Given the description of an element on the screen output the (x, y) to click on. 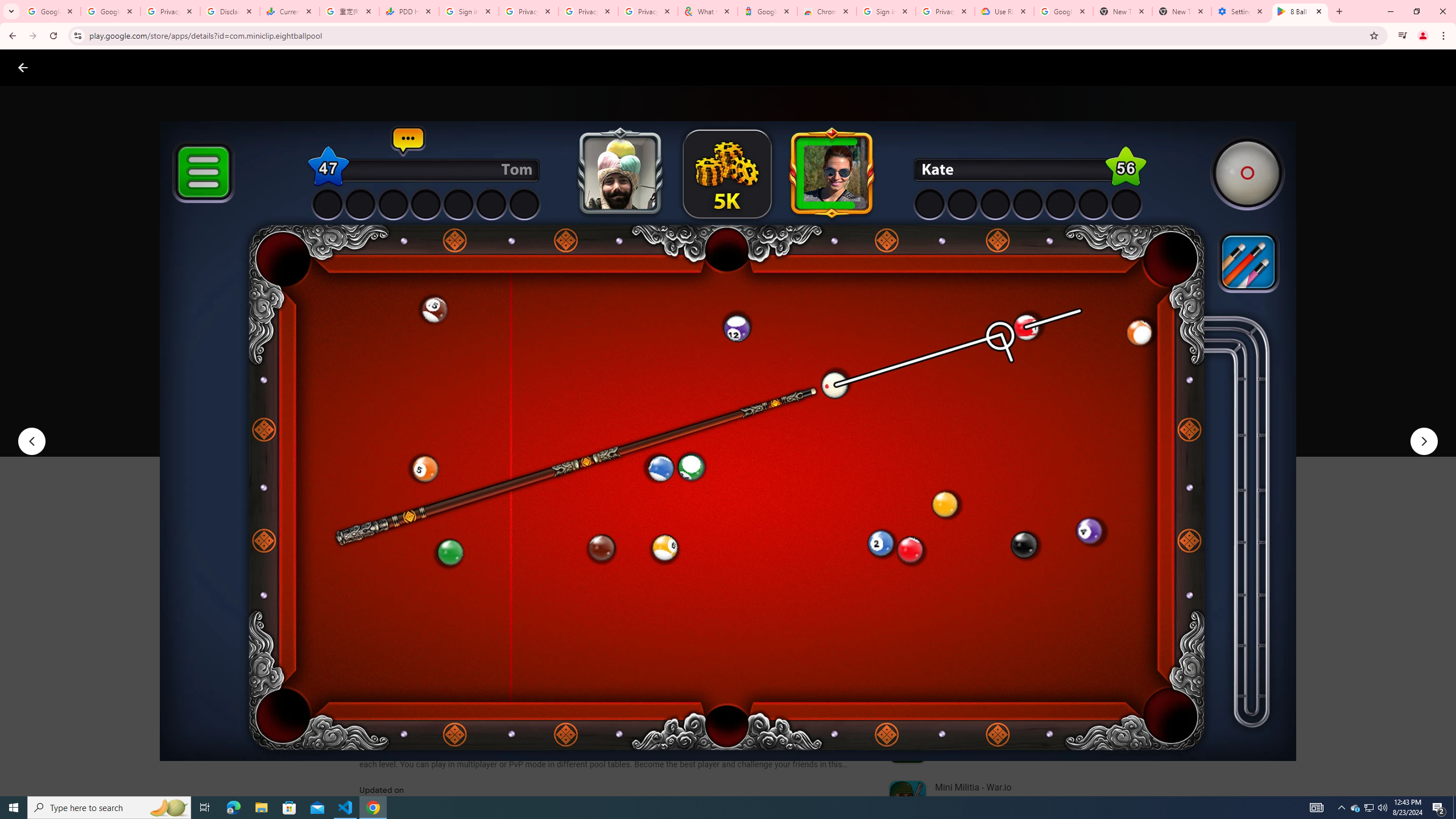
Sign in - Google Accounts (468, 11)
Install (416, 423)
Privacy Checkup (647, 11)
Privacy Checkup (588, 11)
Content rating (553, 373)
More info about this content rating (575, 385)
Google Play logo (64, 67)
